Given the description of an element on the screen output the (x, y) to click on. 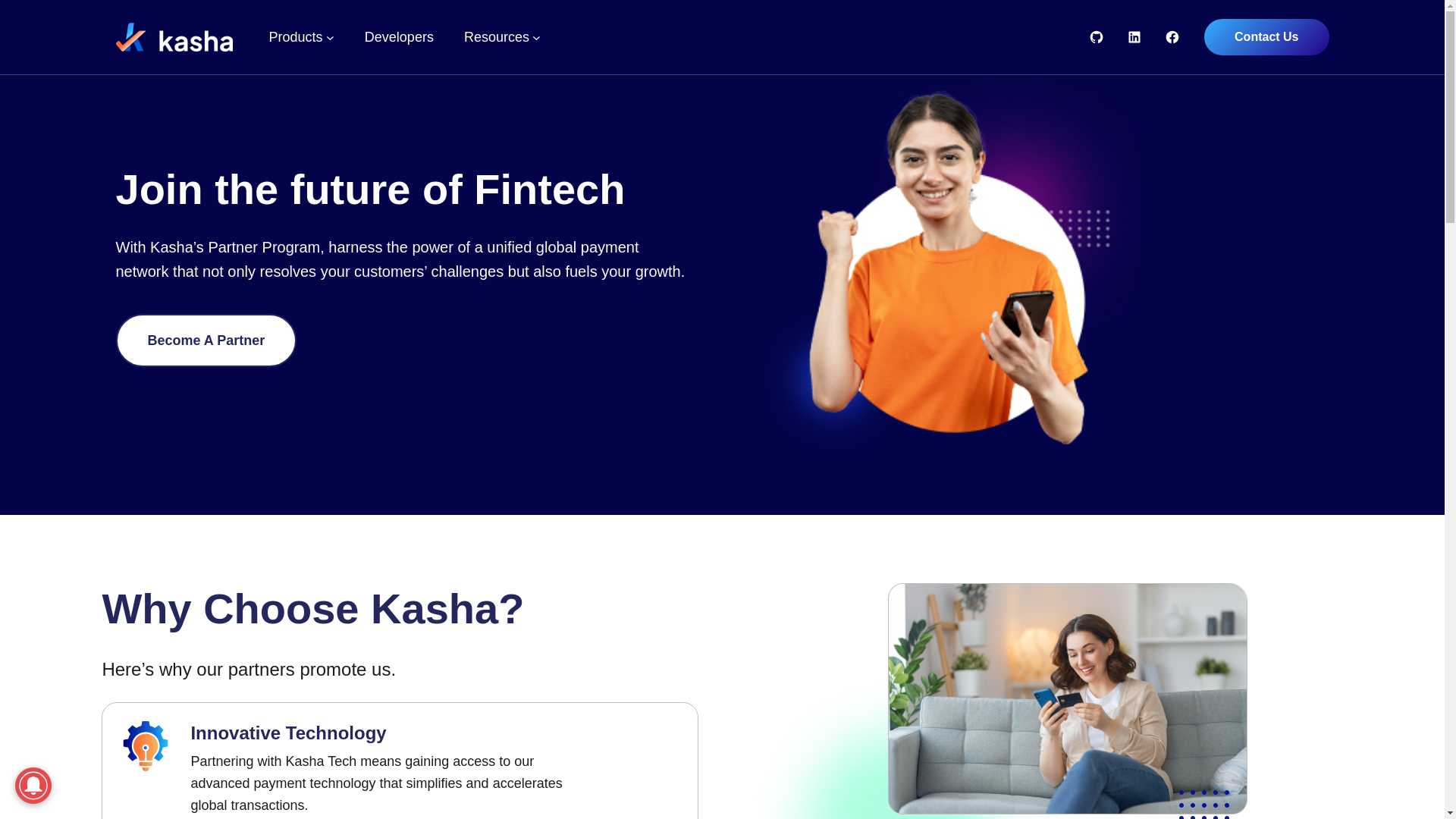
GitHub (1096, 37)
Become A Partner (206, 339)
Facebook (1171, 37)
LinkedIn (1133, 37)
Resources (496, 37)
Developers (399, 37)
Products (294, 37)
Contact Us (1265, 36)
